Given the description of an element on the screen output the (x, y) to click on. 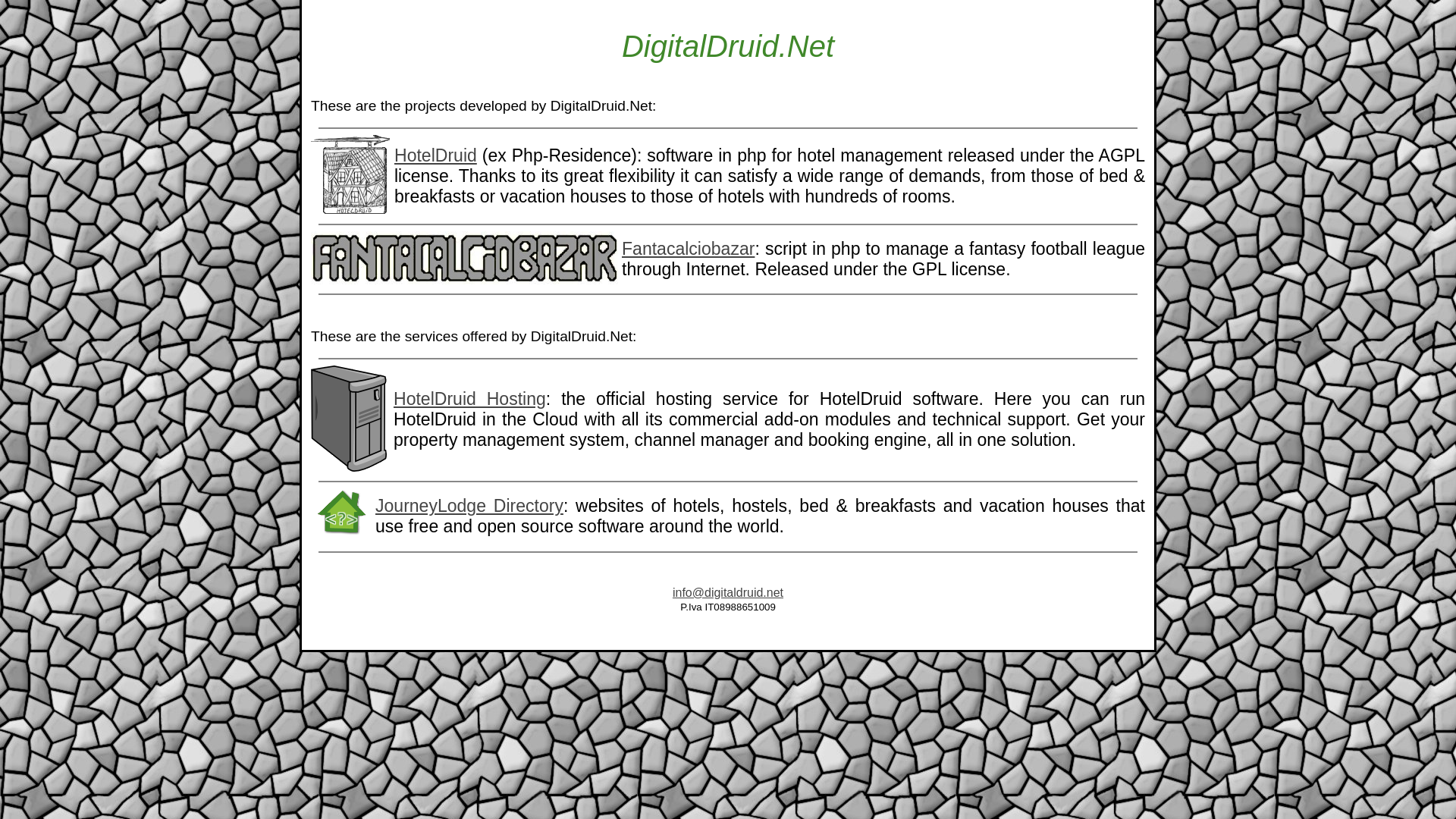
HotelDruid Hosting (469, 398)
Fantacalciobazar (687, 248)
HotelDruid (435, 155)
JourneyLodge Directory (469, 505)
